Given the description of an element on the screen output the (x, y) to click on. 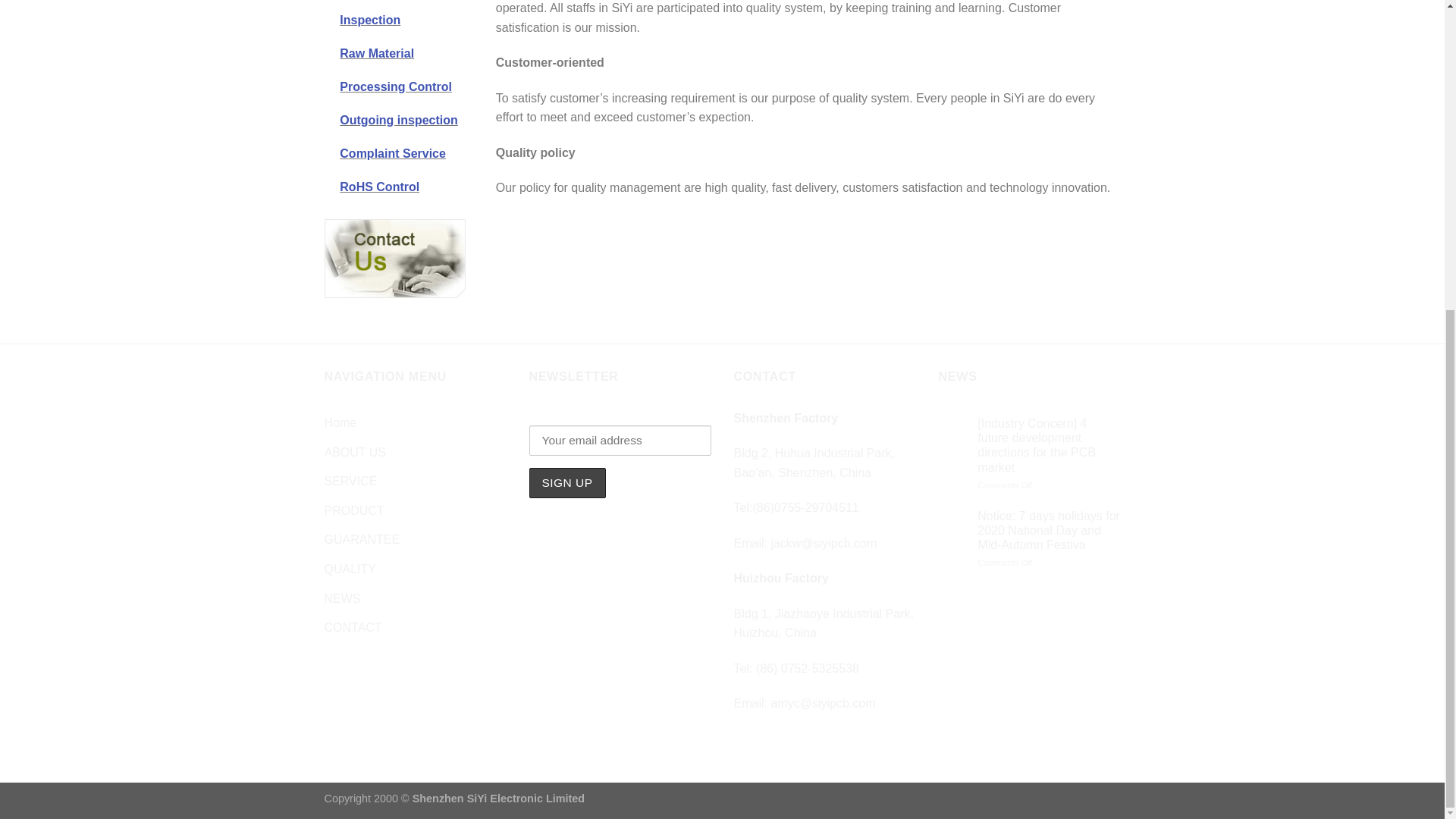
Sign up (567, 482)
